Given the description of an element on the screen output the (x, y) to click on. 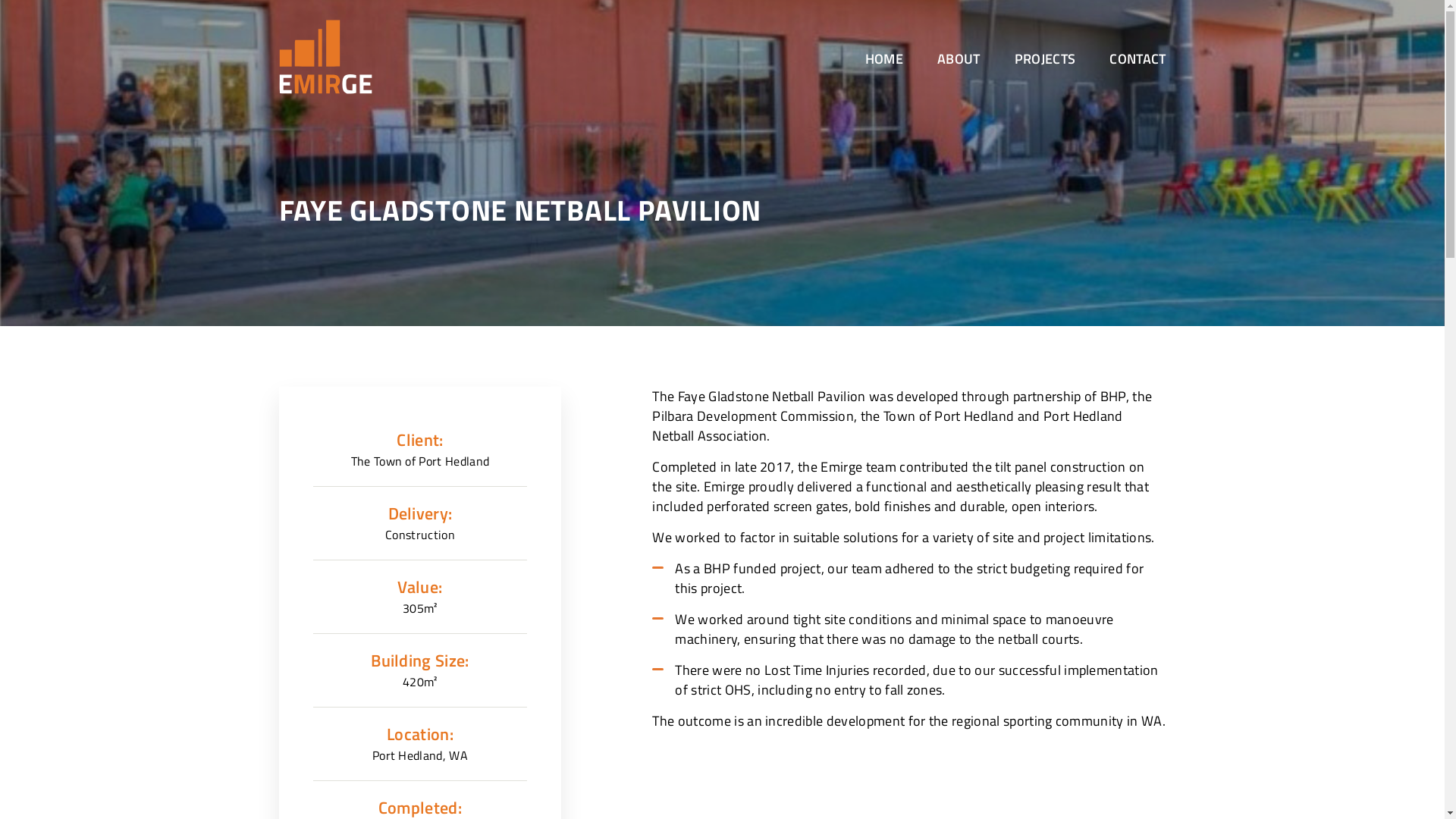
PROJECTS Element type: text (1045, 58)
HOME Element type: text (884, 58)
CONTACT Element type: text (1137, 58)
ABOUT Element type: text (958, 58)
